Given the description of an element on the screen output the (x, y) to click on. 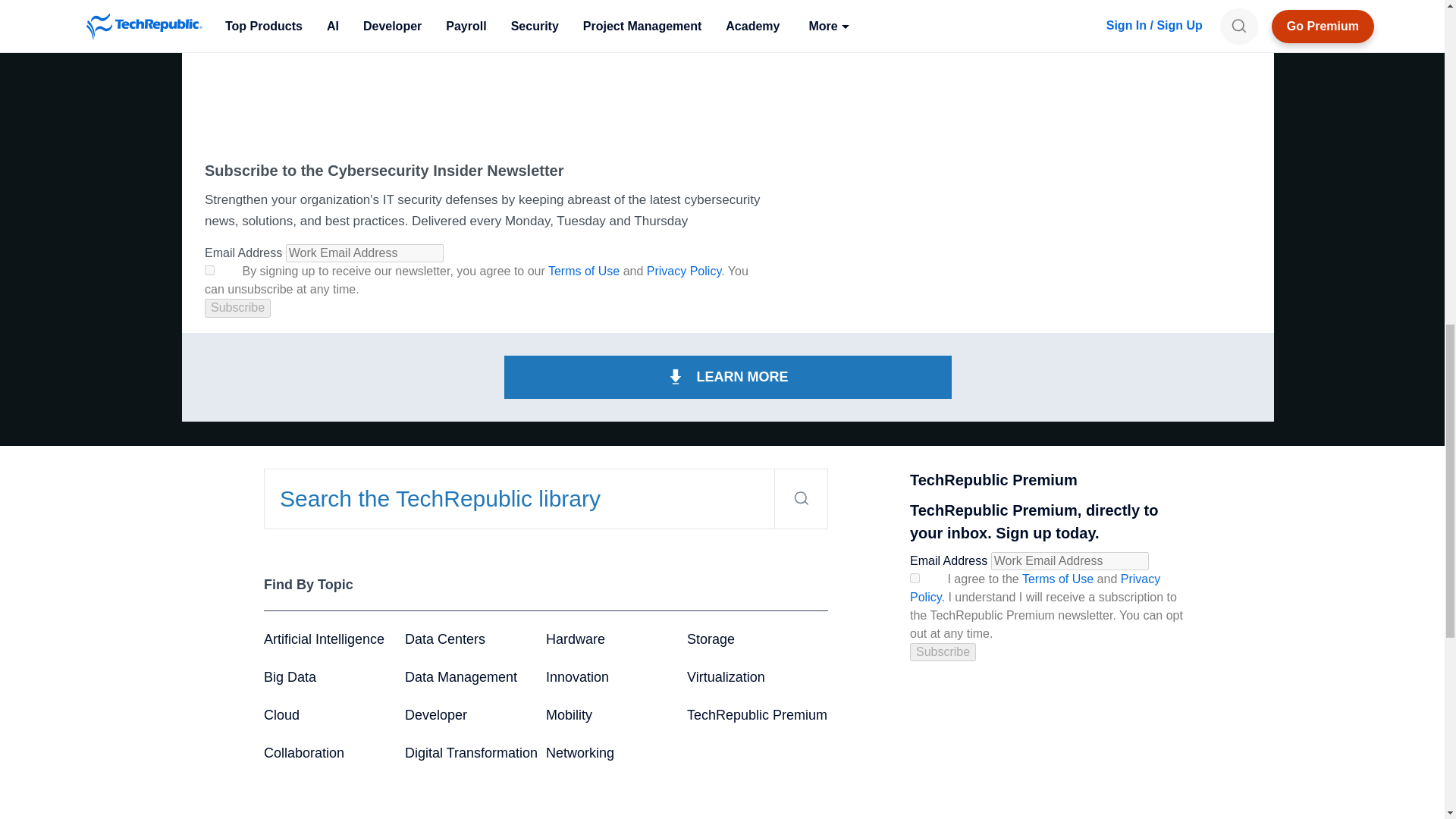
Privacy Policy (683, 270)
on (209, 270)
Subscribe (237, 307)
Terms of Use (584, 270)
on (915, 578)
